Given the description of an element on the screen output the (x, y) to click on. 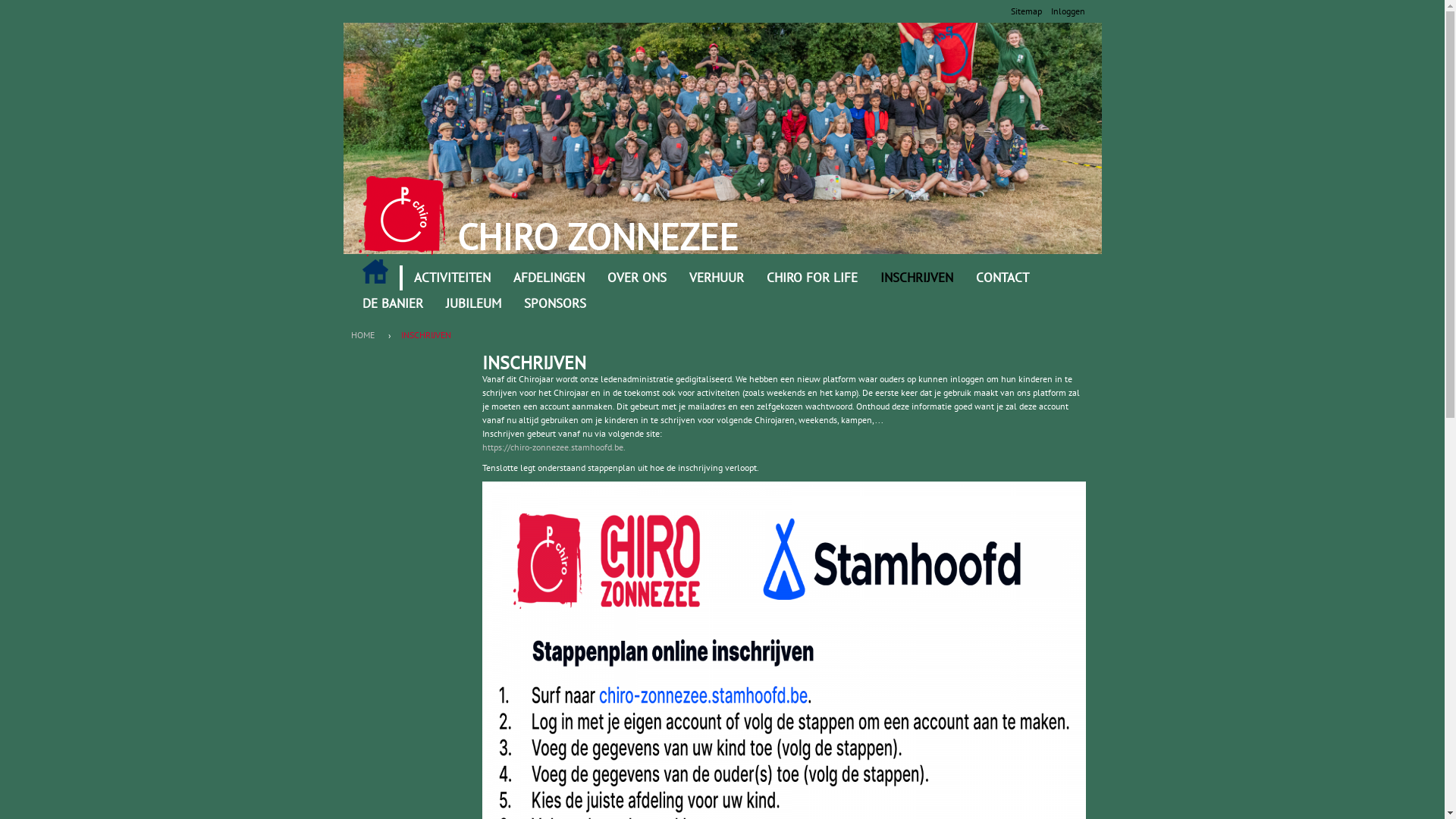
CHIRO FOR LIFE Element type: text (812, 278)
VERHUUR Element type: text (716, 278)
INSCHRIJVEN Element type: text (916, 278)
https://chiro-zonnezee.stamhoofd.be. Element type: text (553, 446)
HOME Element type: text (374, 271)
Home Element type: hover (401, 215)
Sitemap Element type: text (1025, 10)
HOME Element type: text (365, 334)
CHIRO ZONNEZEE Element type: text (596, 236)
SPONSORS Element type: text (554, 303)
JUBILEUM Element type: text (472, 303)
Inloggen Element type: text (1068, 10)
Jump to navigation Element type: text (722, 2)
CONTACT Element type: text (1002, 278)
ACTIVITEITEN Element type: text (451, 278)
OVER ONS Element type: text (636, 278)
AFDELINGEN Element type: text (549, 278)
DE BANIER Element type: text (391, 303)
